Given the description of an element on the screen output the (x, y) to click on. 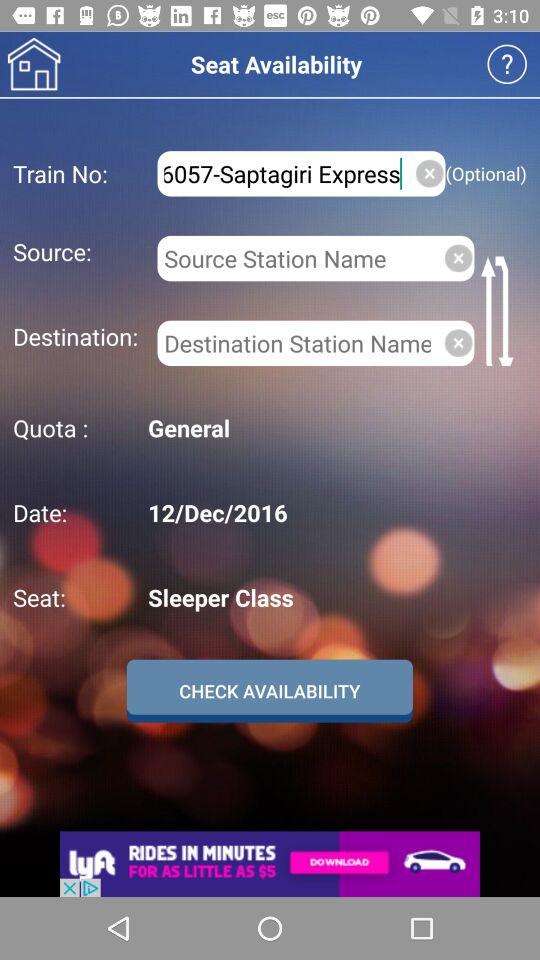
clear words (429, 173)
